Given the description of an element on the screen output the (x, y) to click on. 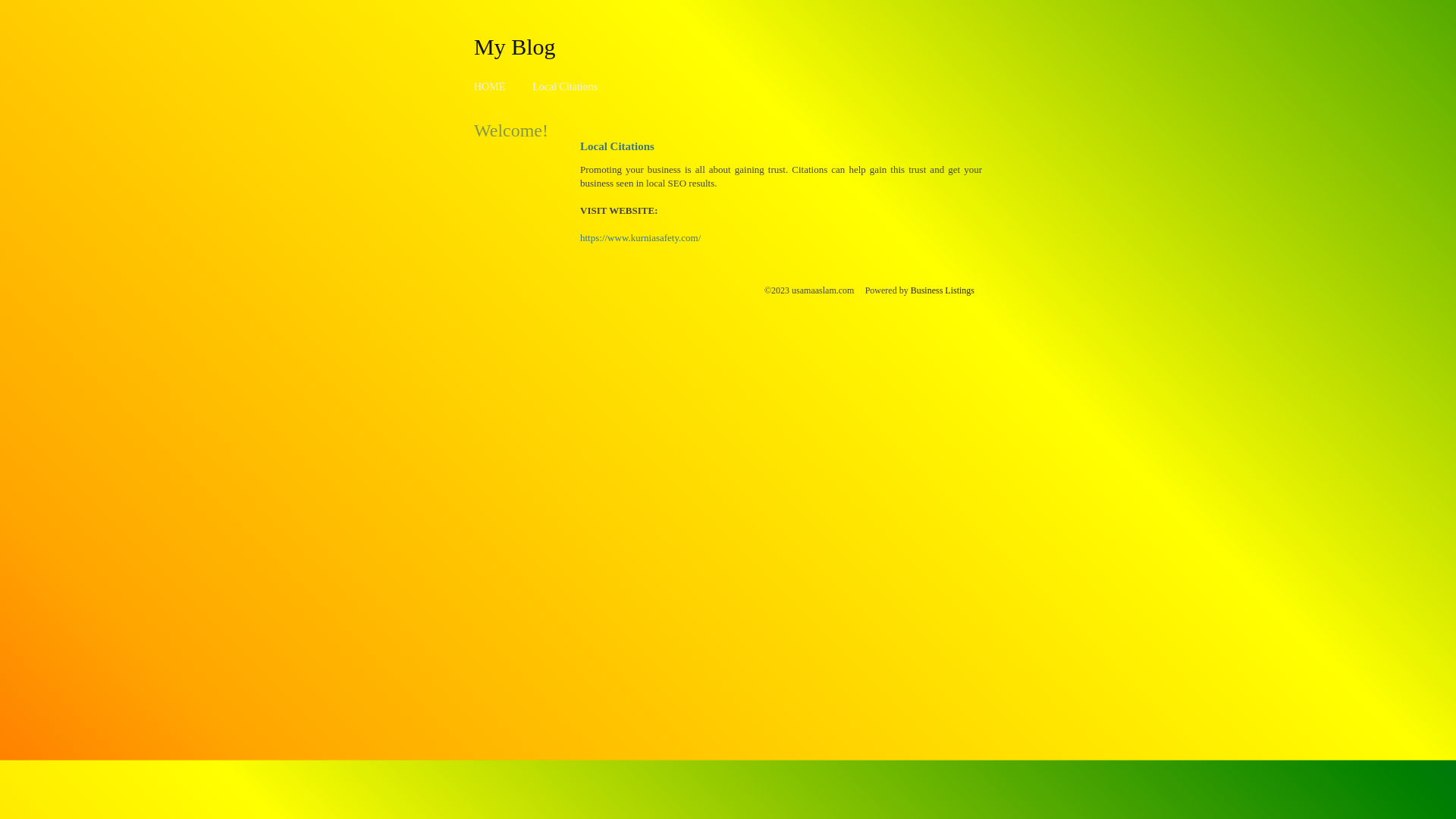
My Blog Element type: text (514, 46)
Local Citations Element type: text (564, 86)
HOME Element type: text (489, 86)
https://www.kurniasafety.com/ Element type: text (640, 237)
Business Listings Element type: text (942, 290)
